Given the description of an element on the screen output the (x, y) to click on. 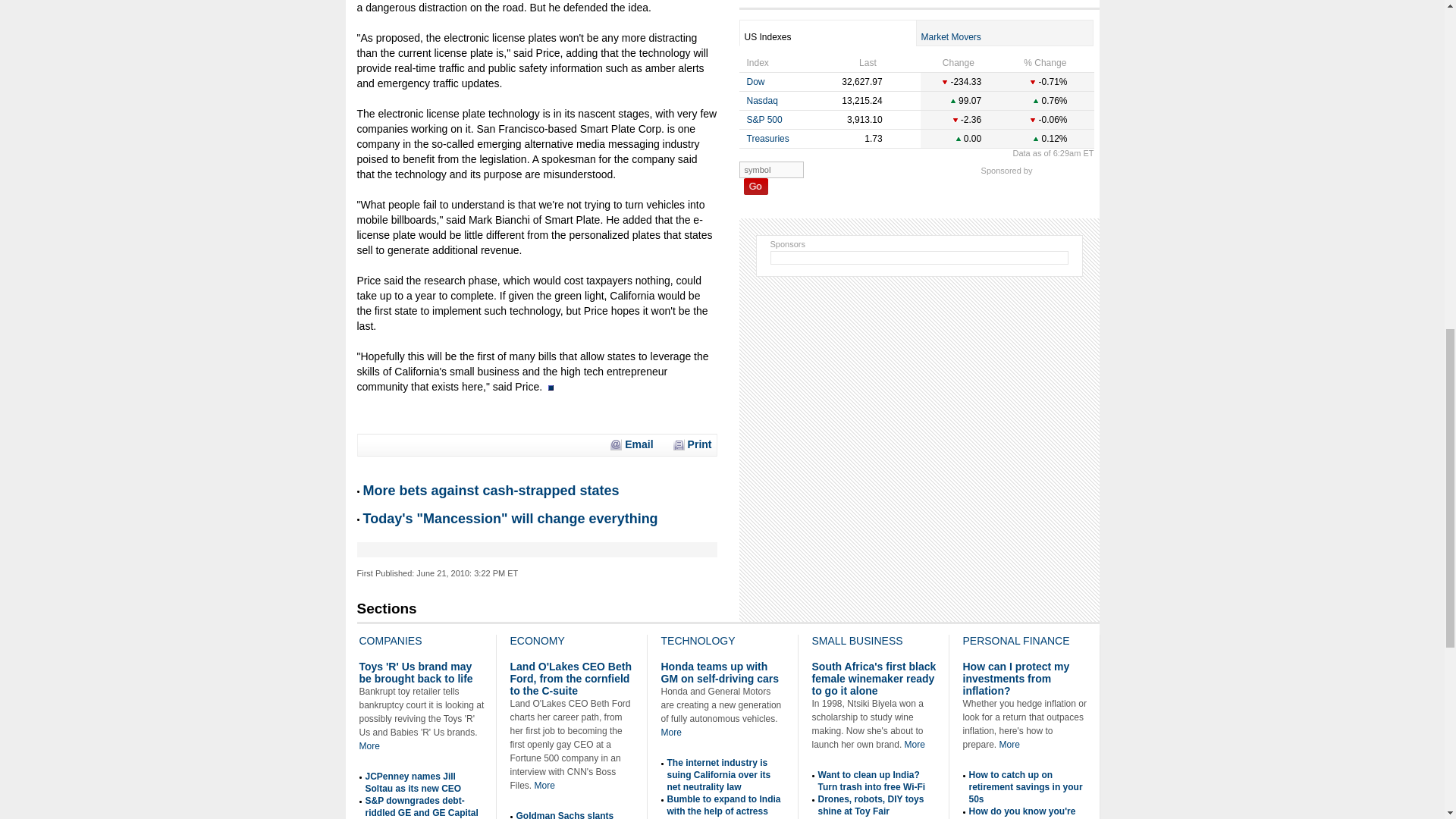
symbol (770, 169)
